Given the description of an element on the screen output the (x, y) to click on. 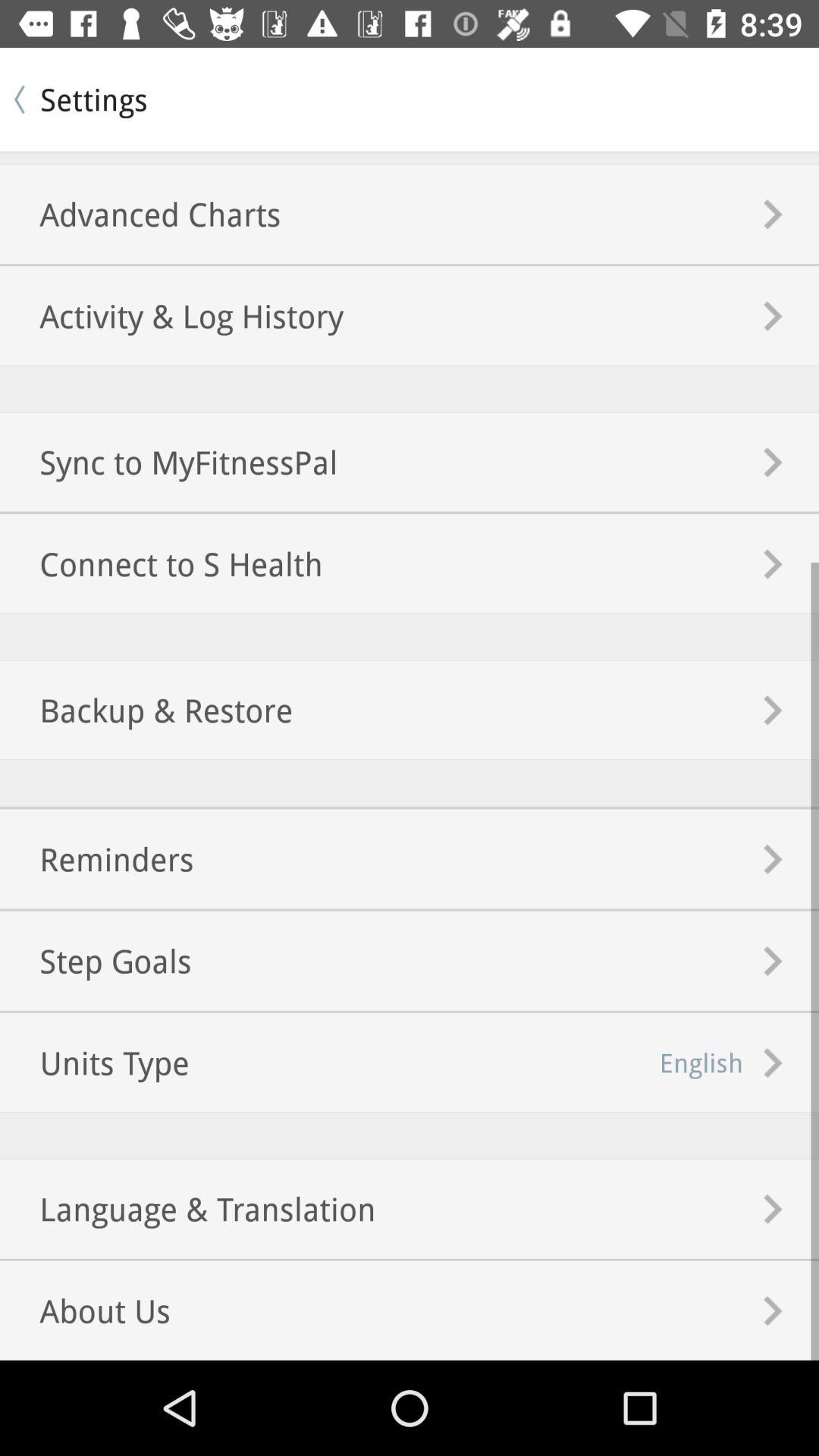
press icon to the right of the step goals (701, 1062)
